Given the description of an element on the screen output the (x, y) to click on. 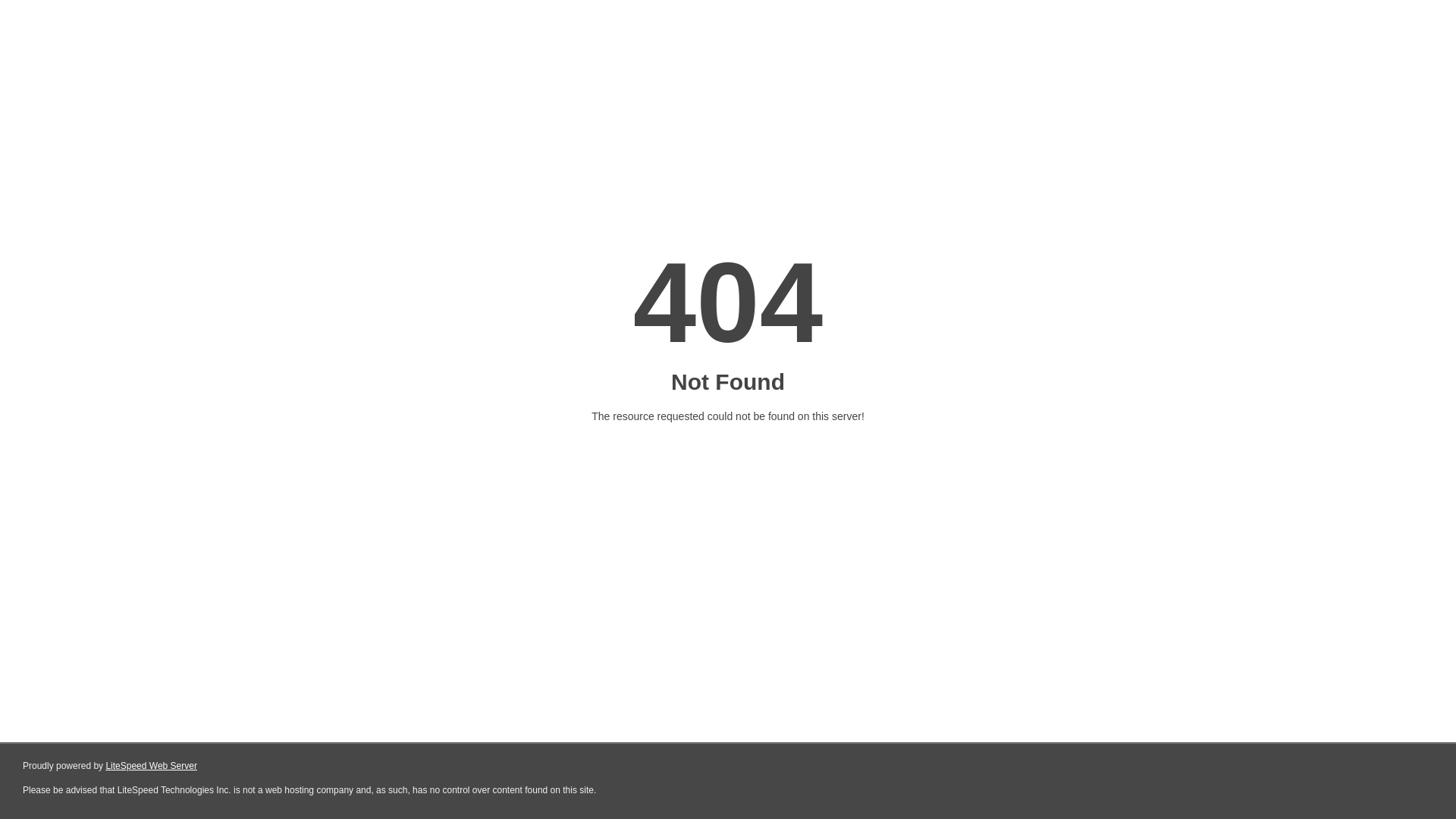
LiteSpeed Web Server Element type: text (151, 765)
